Given the description of an element on the screen output the (x, y) to click on. 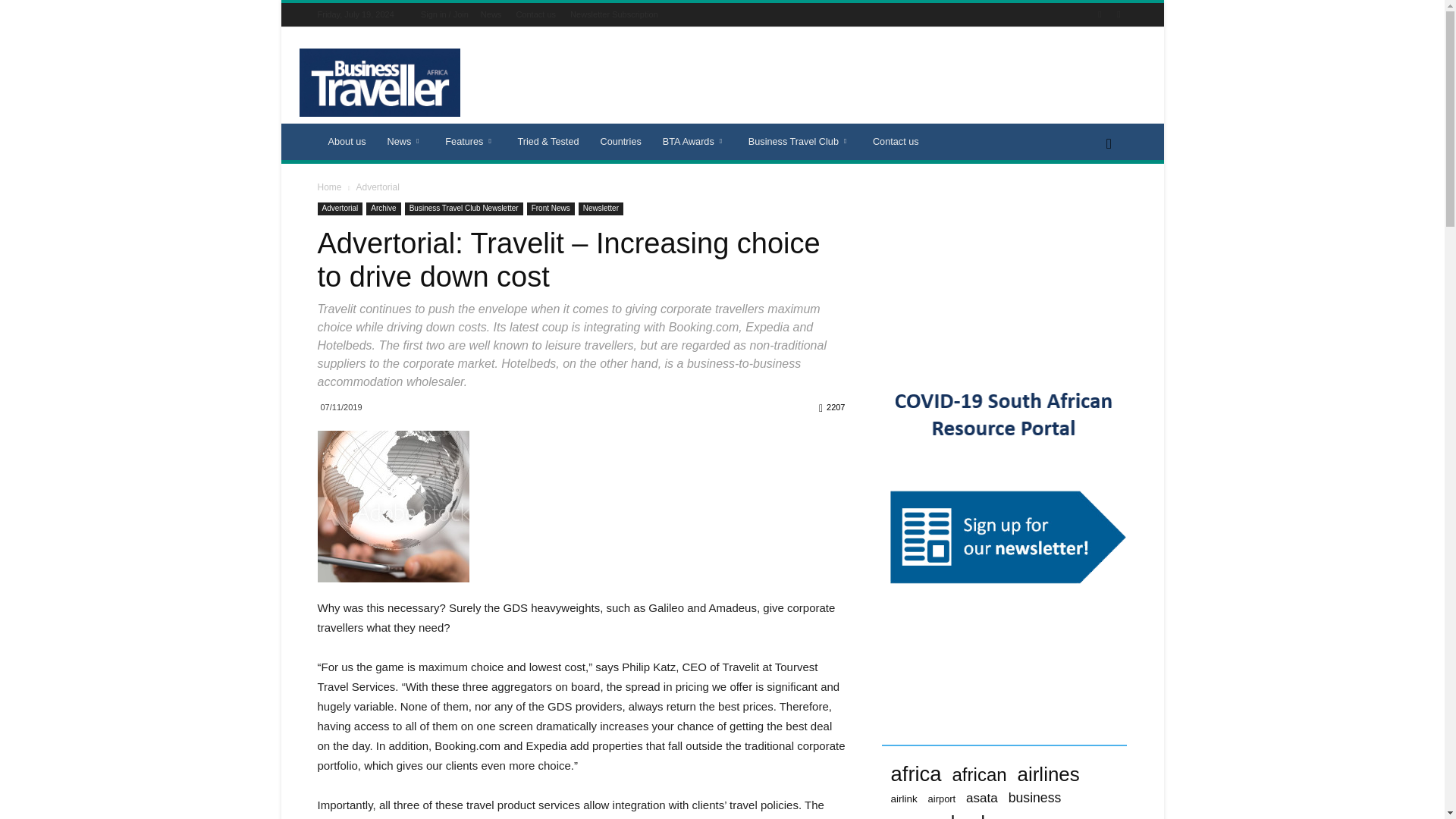
Newsletter Subscription (614, 13)
View all posts in Advertorial (376, 186)
About us (346, 141)
Travelit (392, 506)
News (491, 13)
Contact us (535, 13)
News (406, 141)
Facebook (1099, 13)
YouTube video player (1003, 271)
Twitter (1117, 13)
